Given the description of an element on the screen output the (x, y) to click on. 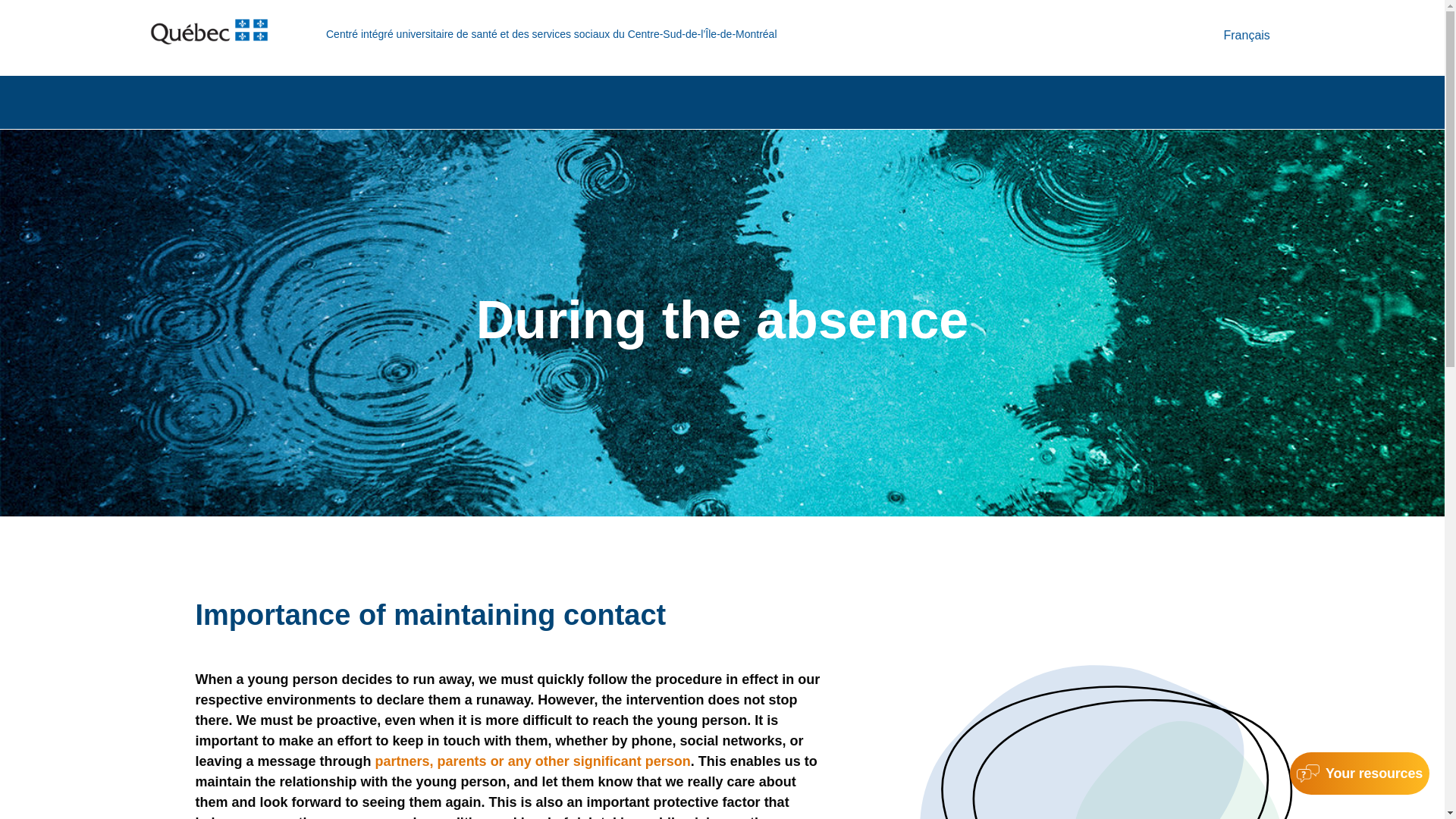
Logo-Quebec (208, 31)
Intervenants-Pendant-la-fugue (1105, 740)
Click Here (1359, 773)
partners, parents or any other significant person (532, 761)
Your resources (1359, 773)
